Given the description of an element on the screen output the (x, y) to click on. 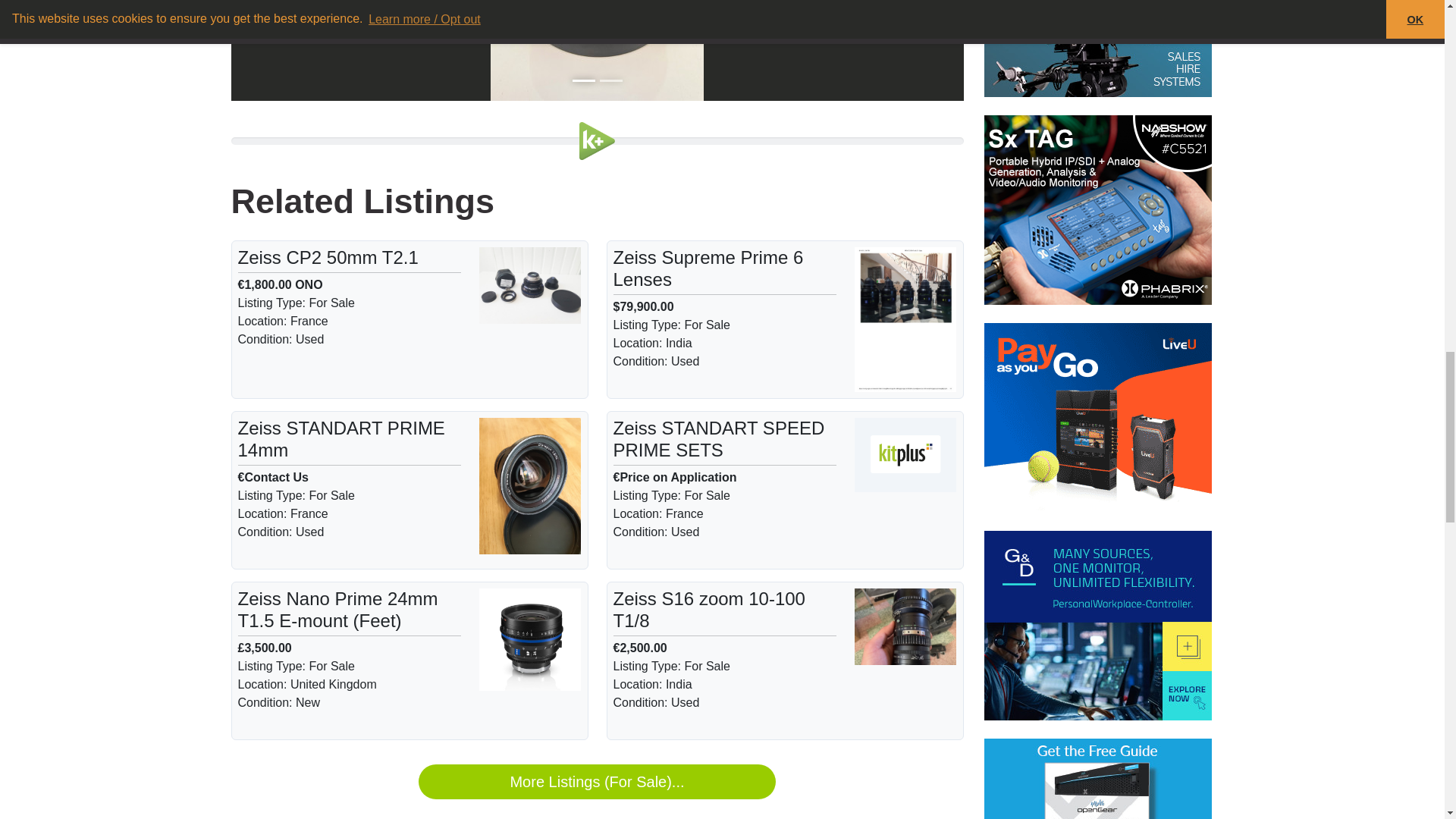
The seller will consider near offers (308, 284)
